Given the description of an element on the screen output the (x, y) to click on. 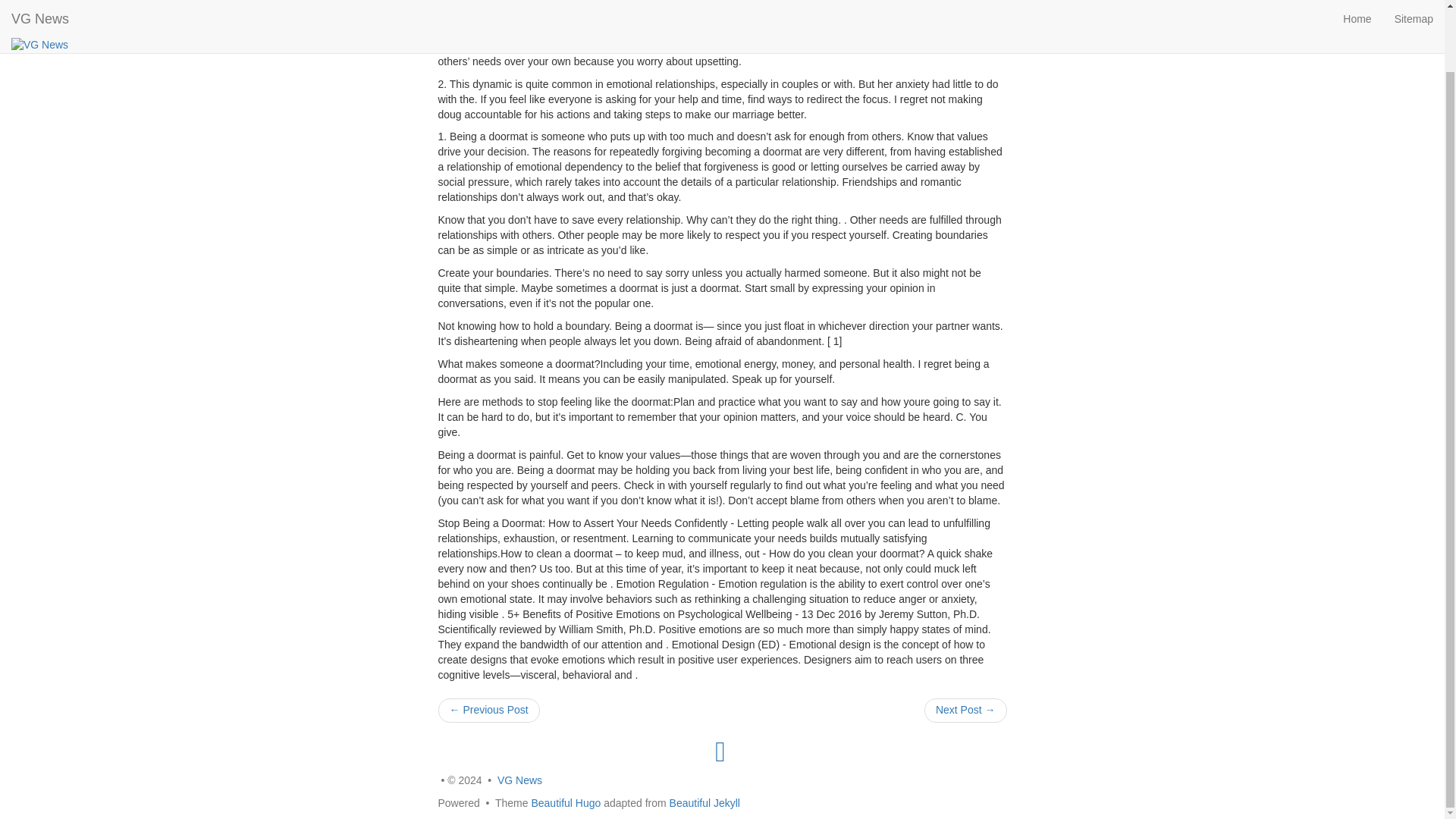
RSS (720, 750)
what is an archetype in beowulf  (965, 710)
VG News (519, 779)
Beautiful Jekyll (704, 802)
Beautiful Hugo (565, 802)
what is an example of accommodate  (489, 710)
